Given the description of an element on the screen output the (x, y) to click on. 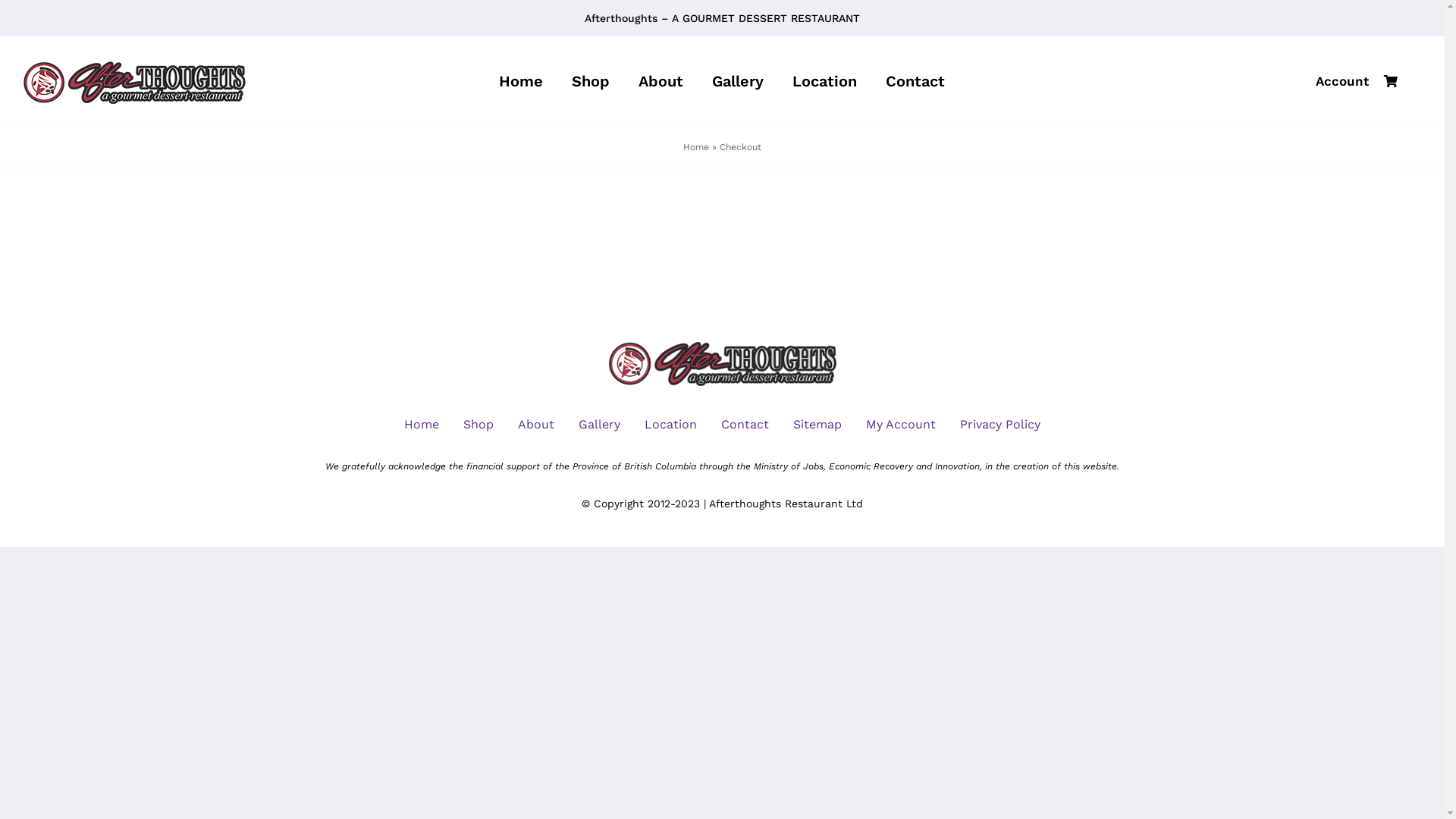
Privacy Policy Element type: text (1000, 425)
Location Element type: text (824, 81)
Home Element type: text (696, 146)
About Element type: text (535, 425)
Home Element type: text (421, 425)
Log In Element type: text (1323, 261)
Contact Element type: text (914, 81)
Gallery Element type: text (599, 425)
My Account Element type: text (900, 425)
Shop Element type: text (478, 425)
Home Element type: text (520, 81)
Shop Element type: text (590, 81)
About Element type: text (660, 81)
Account Element type: text (1341, 81)
Location Element type: text (670, 425)
Gallery Element type: text (737, 81)
Sitemap Element type: text (817, 425)
Contact Element type: text (744, 425)
